Given the description of an element on the screen output the (x, y) to click on. 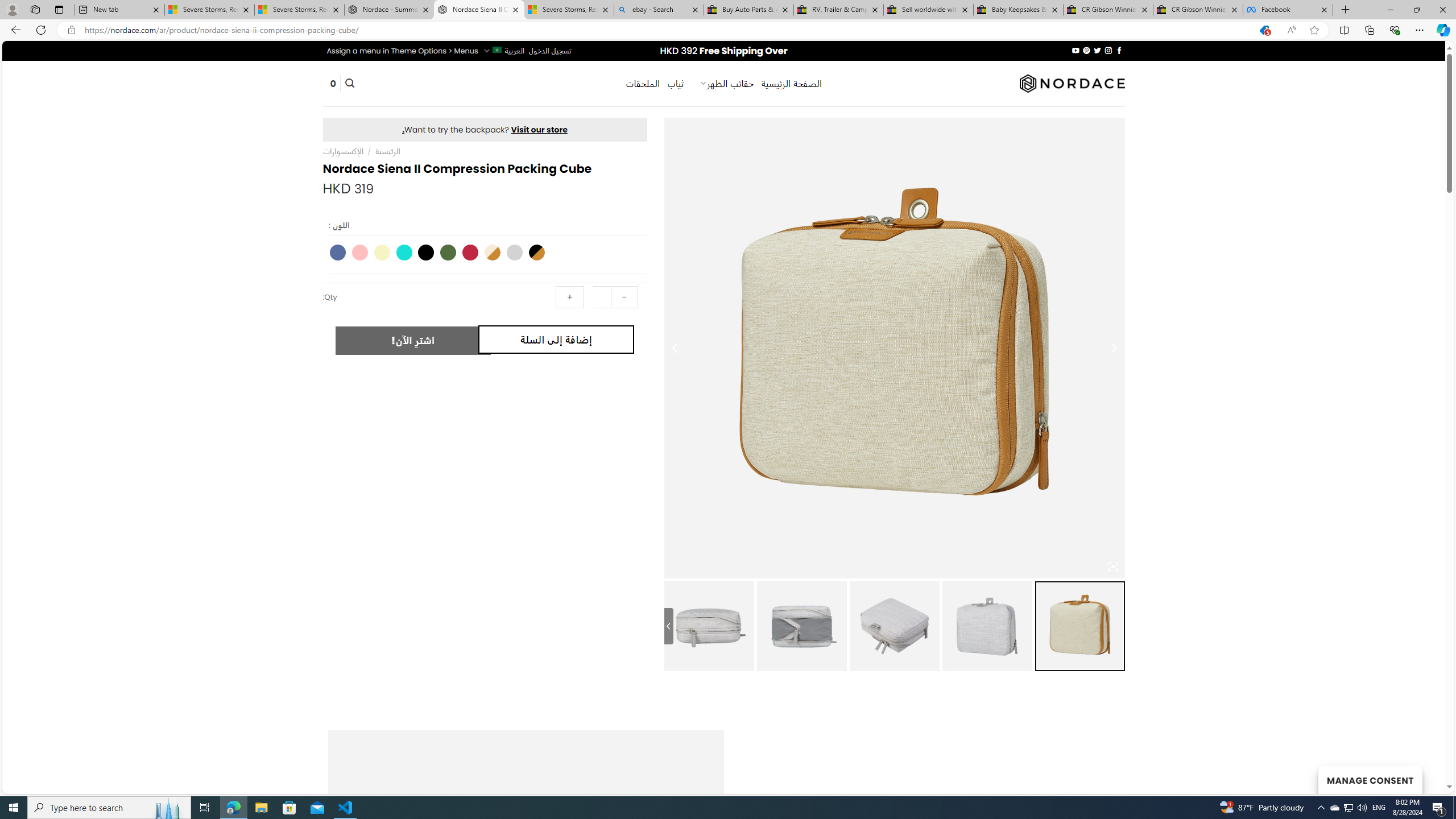
Assign a menu in Theme Options > Menus (402, 50)
New Tab (1346, 9)
You have the best price! (1263, 29)
Nordace Siena II Compression Packing Cube (708, 625)
Sell worldwide with eBay (928, 9)
Class: iconic-woothumbs-fullscreen (1113, 566)
Refresh (40, 29)
Follow on Facebook (1118, 50)
Read aloud this page (Ctrl+Shift+U) (1291, 29)
